Given the description of an element on the screen output the (x, y) to click on. 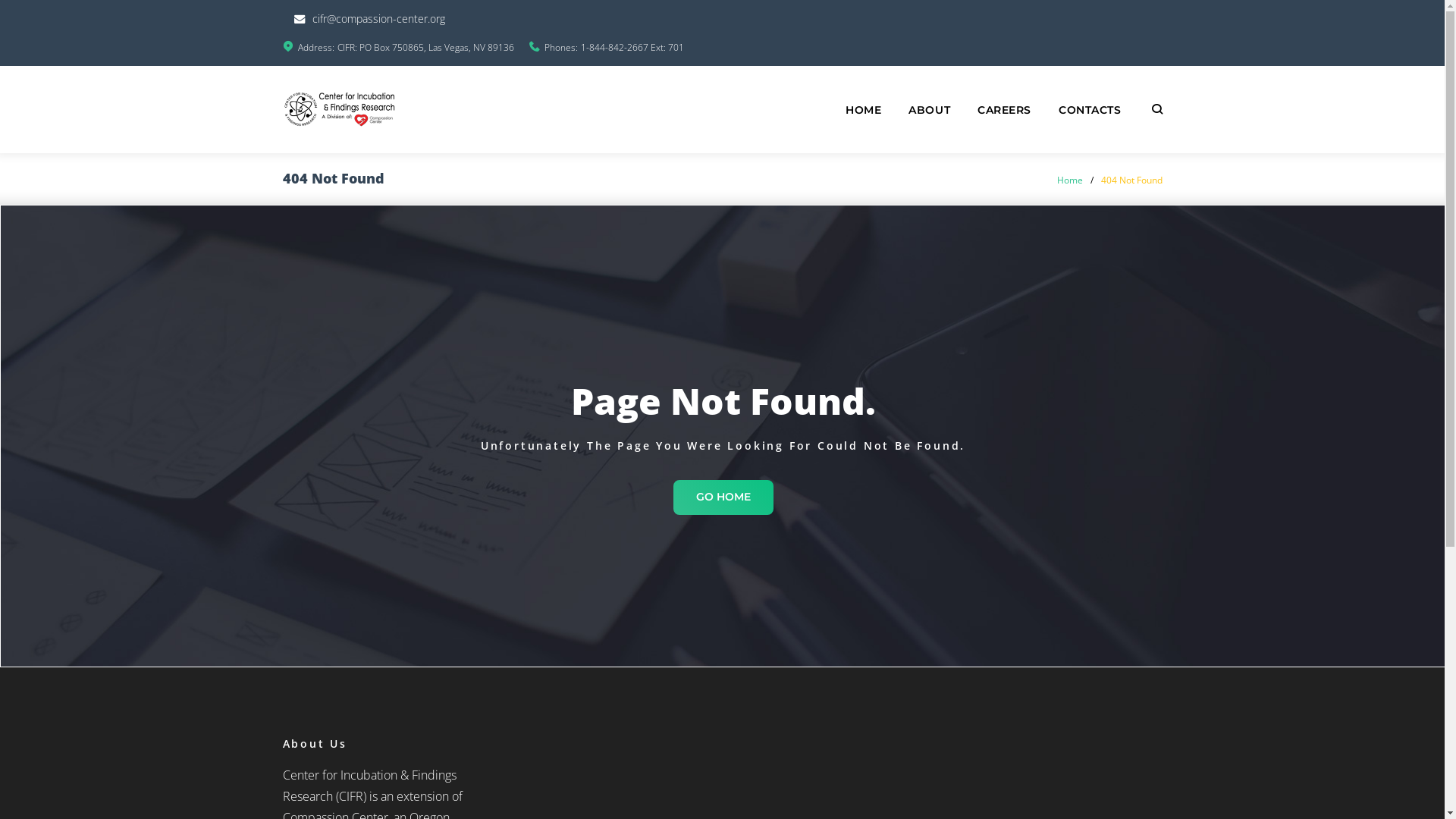
cifr@compassion-center.org Element type: text (378, 18)
GO HOME Element type: text (723, 497)
Home Element type: text (1069, 179)
CAREERS Element type: text (1004, 110)
CONTACTS Element type: text (1089, 110)
ABOUT Element type: text (929, 110)
HOME Element type: text (863, 110)
